Given the description of an element on the screen output the (x, y) to click on. 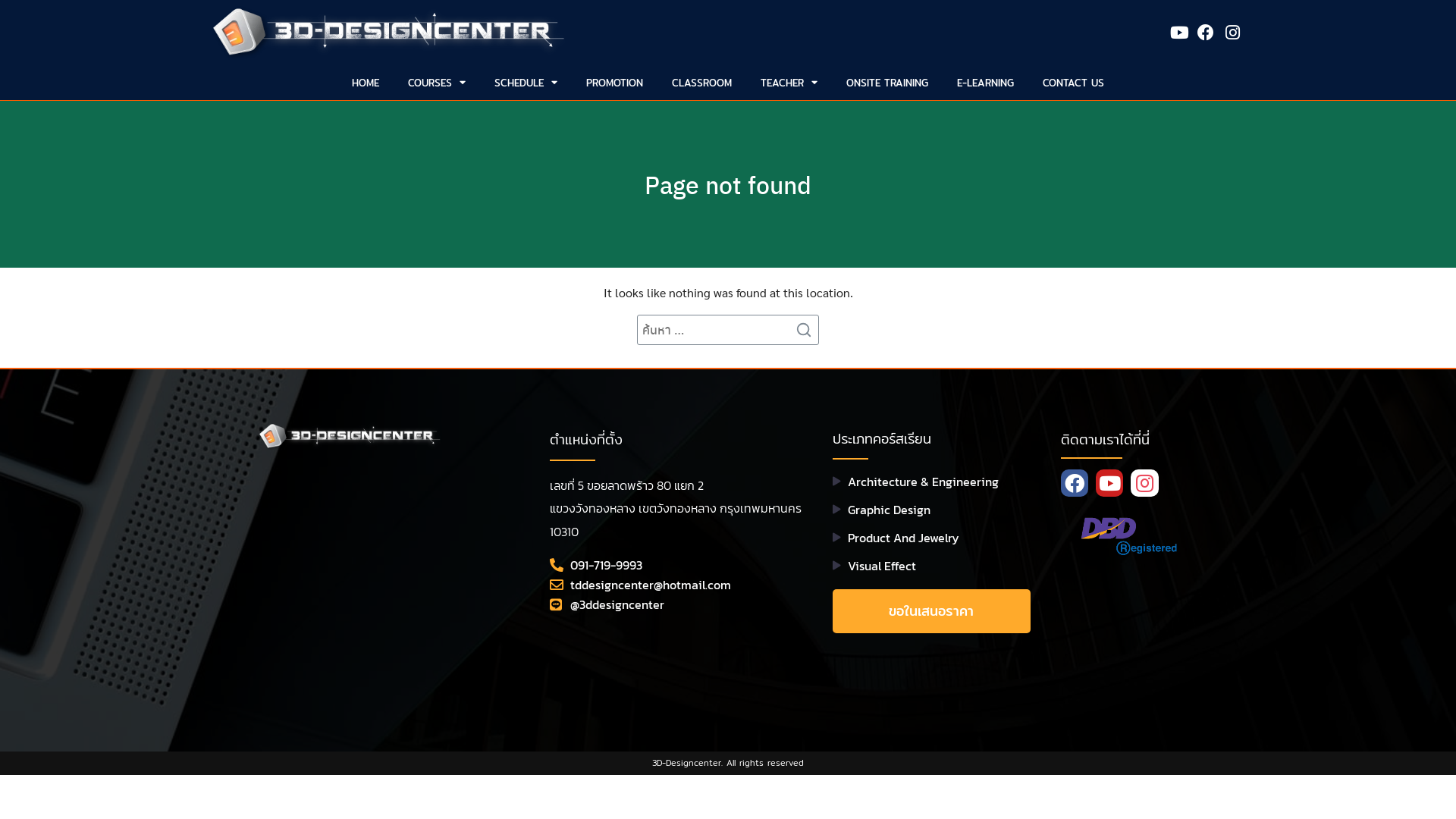
ONSITE TRAINING Element type: text (886, 82)
TEACHER Element type: text (788, 82)
HOME Element type: text (365, 82)
@3ddesigncenter Element type: text (675, 604)
tddesigncenter@hotmail.com Element type: text (675, 584)
Architecture & Engineering Element type: text (931, 481)
CONTACT US Element type: text (1073, 82)
COURSES Element type: text (436, 82)
Product And Jewelry Element type: text (931, 537)
Visual Effect Element type: text (931, 565)
PROMOTION Element type: text (614, 82)
E-LEARNING Element type: text (985, 82)
091-719-9993 Element type: text (675, 564)
Graphic Design Element type: text (931, 509)
Page not found Element type: text (727, 183)
SCHEDULE Element type: text (525, 82)
CLASSROOM Element type: text (701, 82)
